Given the description of an element on the screen output the (x, y) to click on. 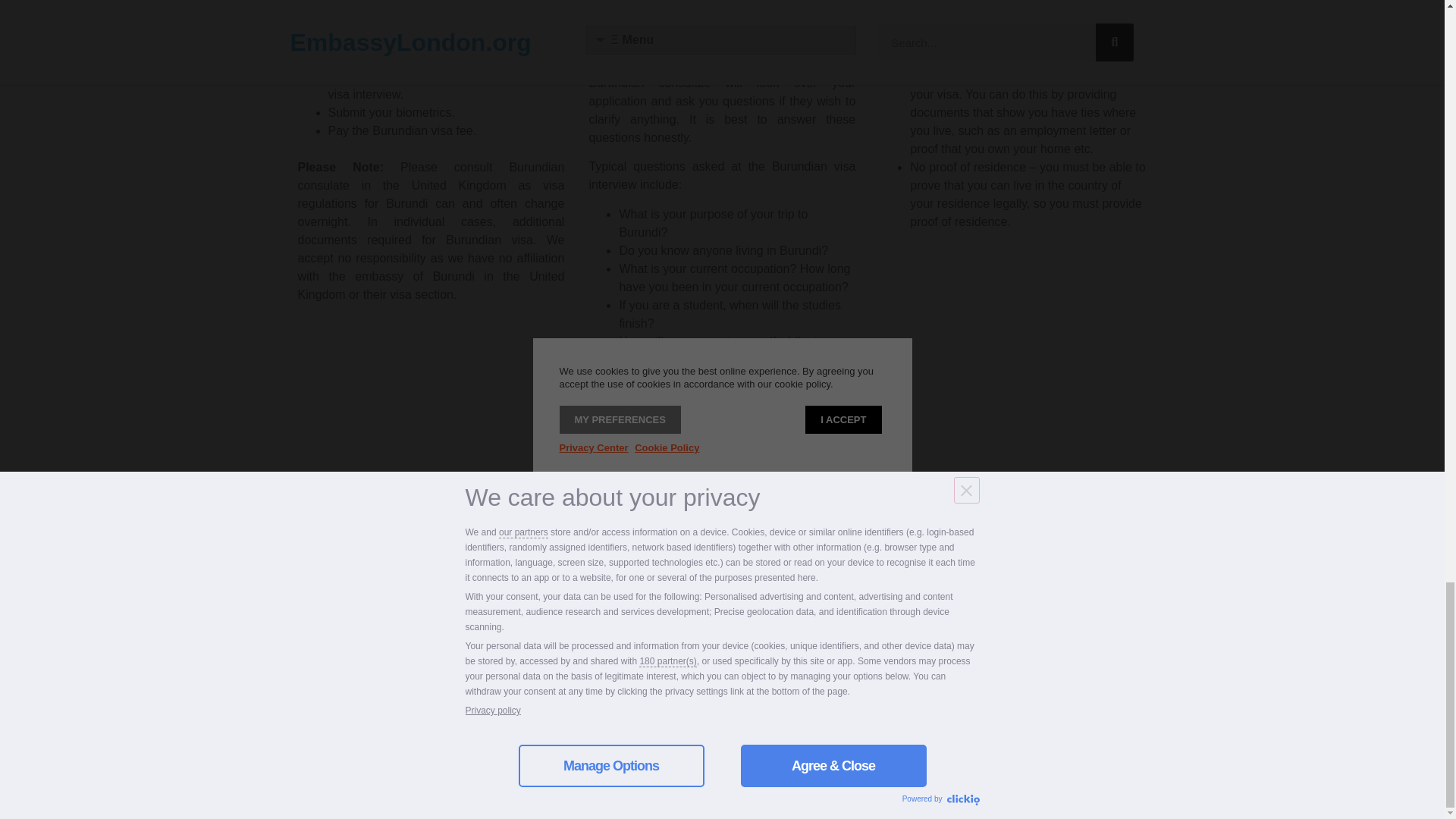
Home (746, 680)
